Given the description of an element on the screen output the (x, y) to click on. 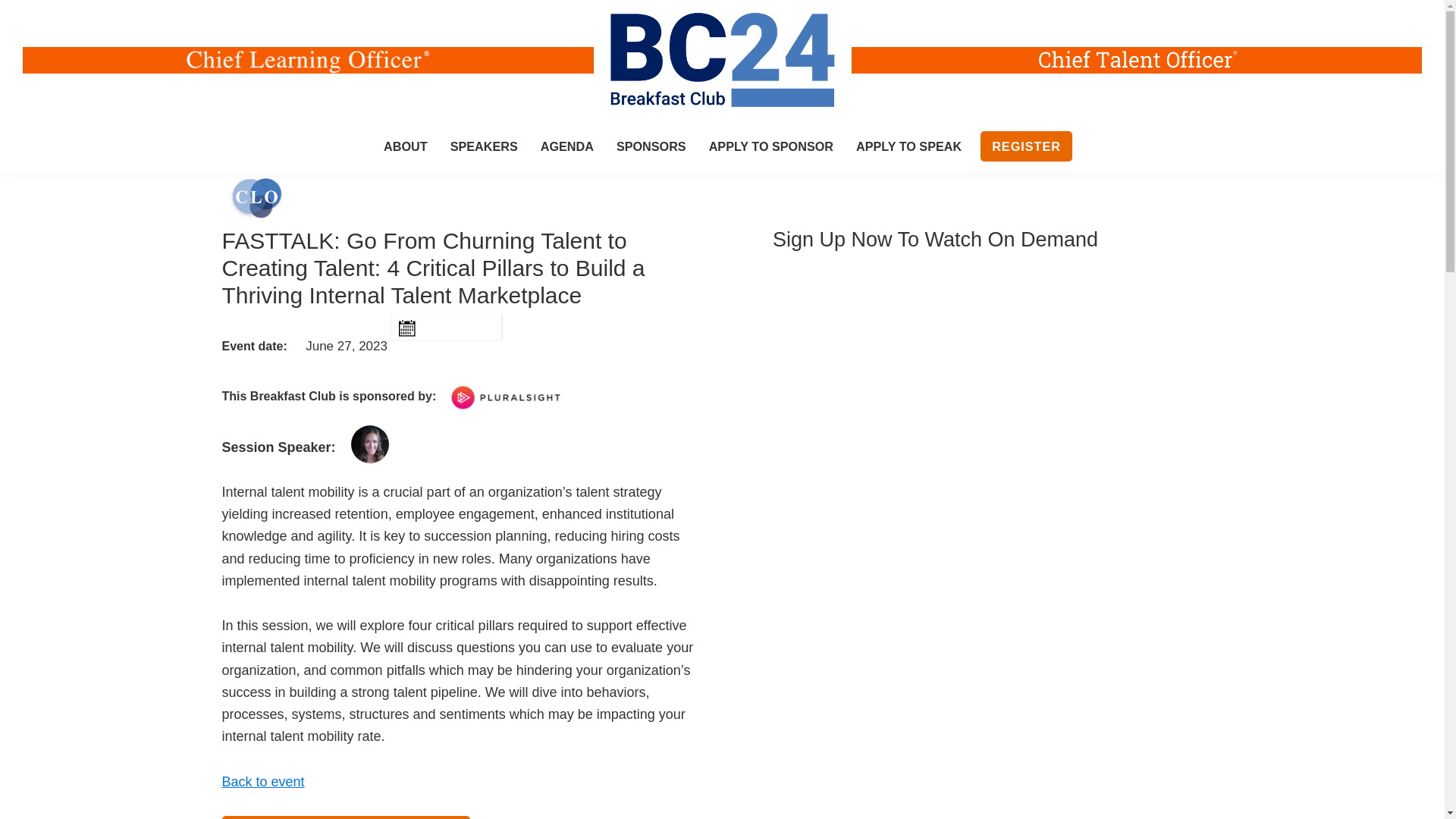
REGISTER (1025, 146)
SPEAKERS (484, 146)
View more Breakfast Club days (344, 817)
Back to event (262, 781)
APPLY TO SPONSOR (770, 146)
SPONSORS (651, 146)
APPLY TO SPEAK (908, 146)
AGENDA (567, 146)
ABOUT (405, 146)
